Given the description of an element on the screen output the (x, y) to click on. 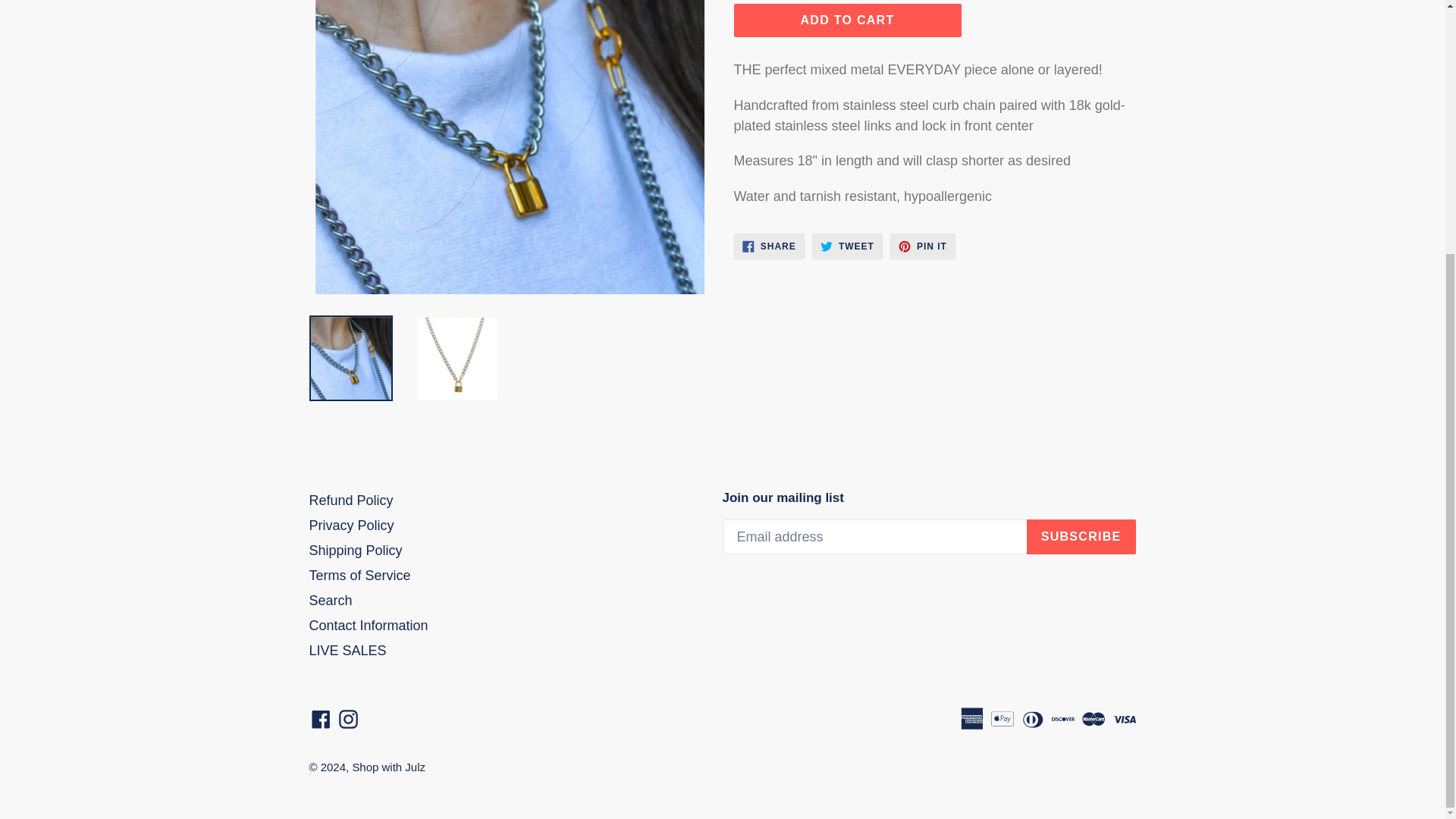
Share on Facebook (769, 246)
Tweet on Twitter (847, 246)
Pin on Pinterest (922, 246)
Shop with Julz on Facebook (320, 718)
Shop with Julz on Instagram (347, 718)
